Given the description of an element on the screen output the (x, y) to click on. 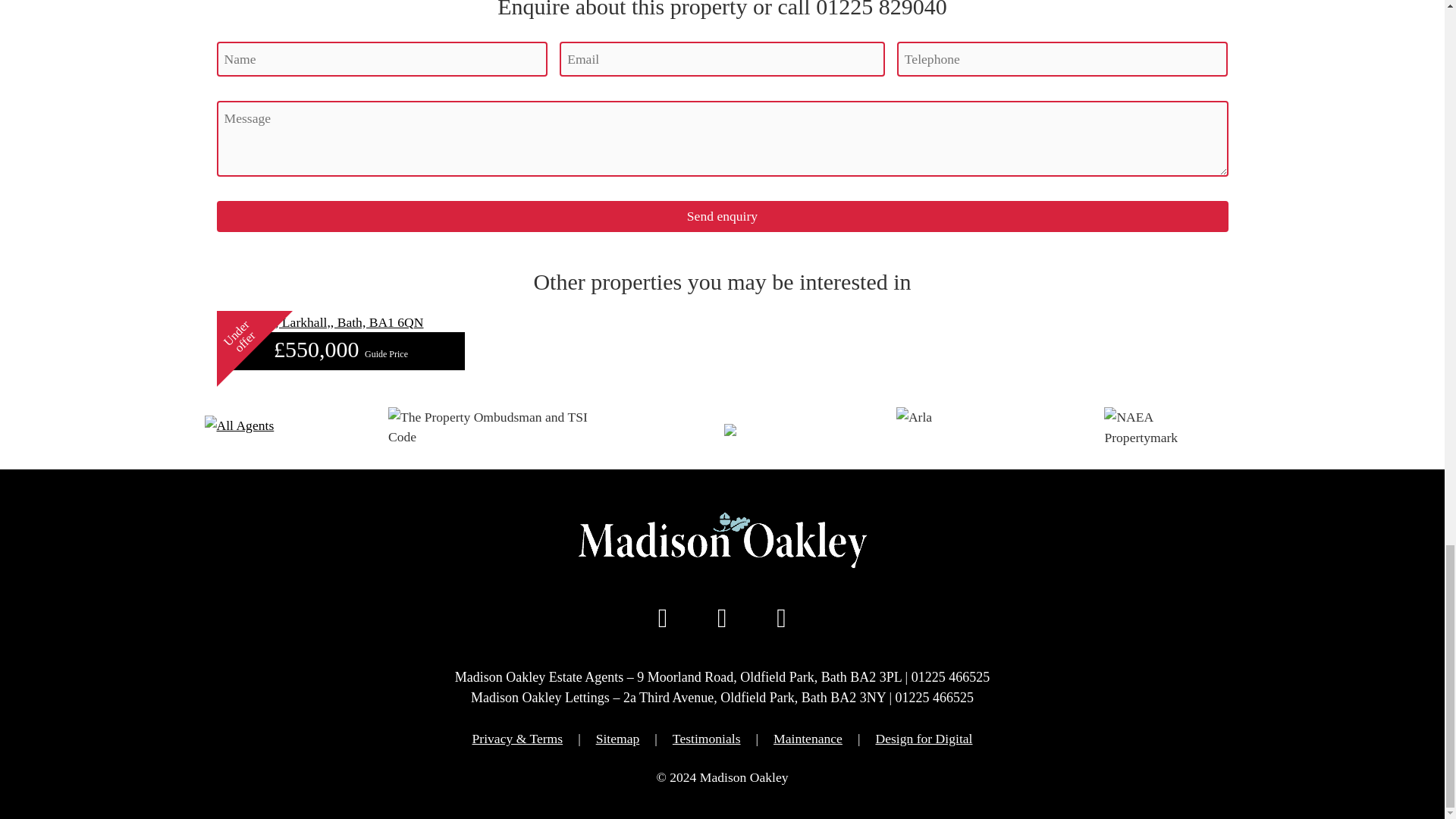
Send enquiry (722, 215)
Madison Oakley on Facebook (662, 617)
Madison Oakley on Envelope (781, 617)
Phone Madison Oakley (721, 617)
Sitemap (617, 738)
Send enquiry (722, 215)
Testimonials (706, 738)
